Given the description of an element on the screen output the (x, y) to click on. 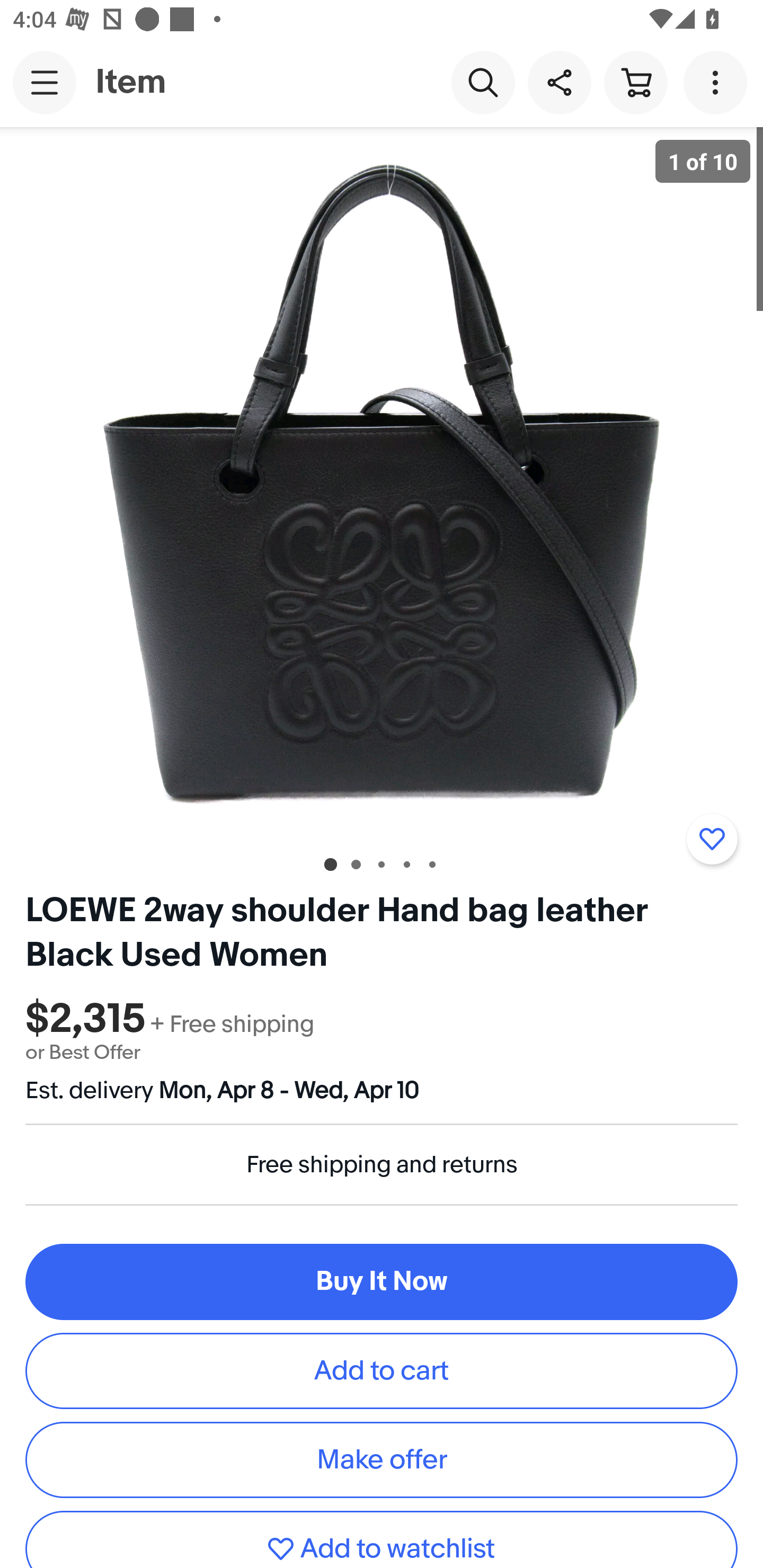
Main navigation, open (44, 82)
Search (482, 81)
Share this item (559, 81)
Cart button shopping cart (635, 81)
More options (718, 81)
Item image 1 of 10 (381, 482)
Add to watchlist (711, 838)
Buy It Now (381, 1281)
Add to cart (381, 1370)
Make offer (381, 1459)
Add to watchlist (381, 1539)
